Given the description of an element on the screen output the (x, y) to click on. 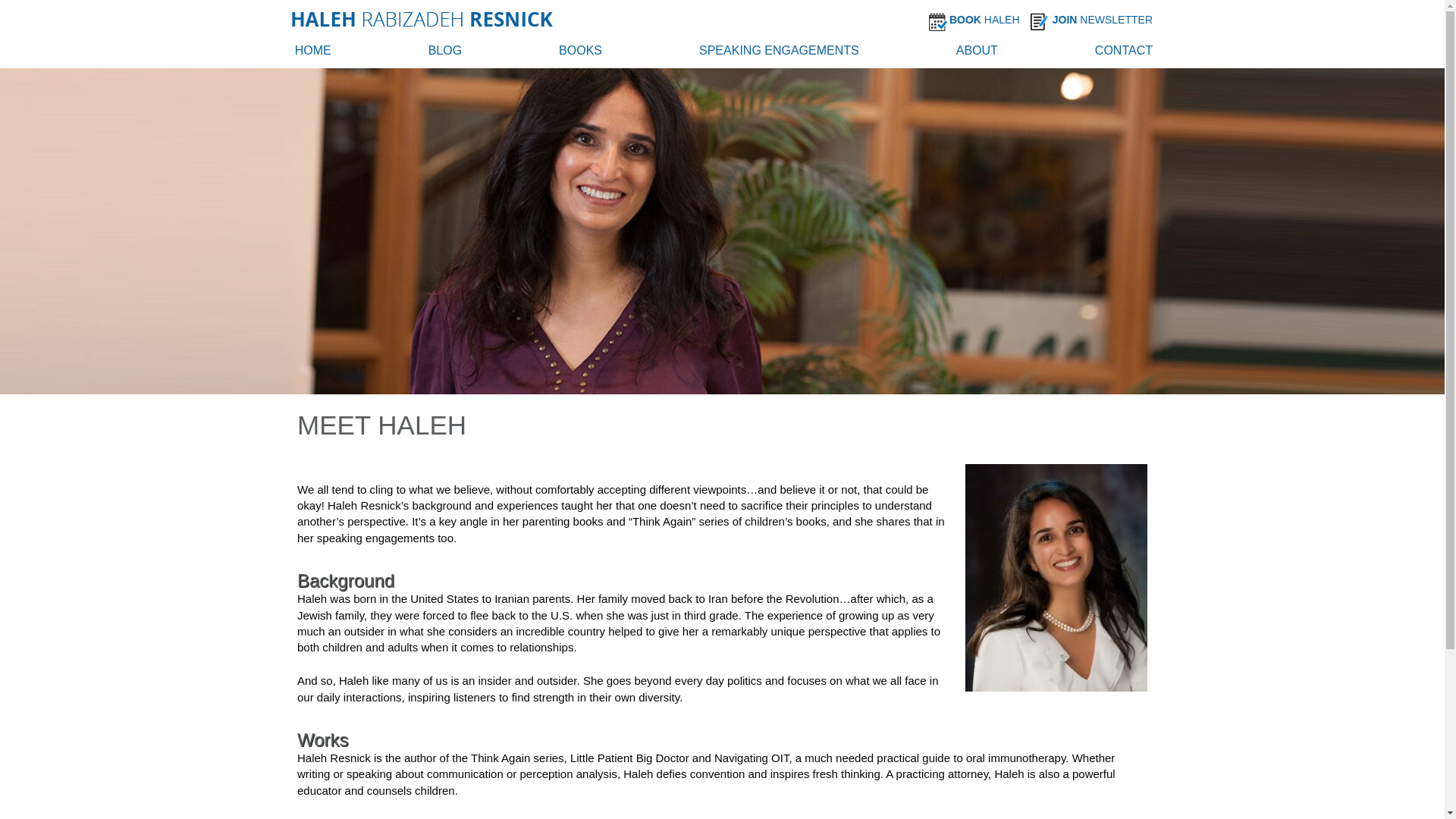
JOIN NEWSLETTER (1106, 19)
BOOK HALEH (988, 19)
ABOUT (976, 52)
SPEAKING ENGAGEMENTS (778, 52)
HOME (313, 52)
BOOKS (580, 52)
BLOG (444, 52)
CONTACT (1123, 52)
